Given the description of an element on the screen output the (x, y) to click on. 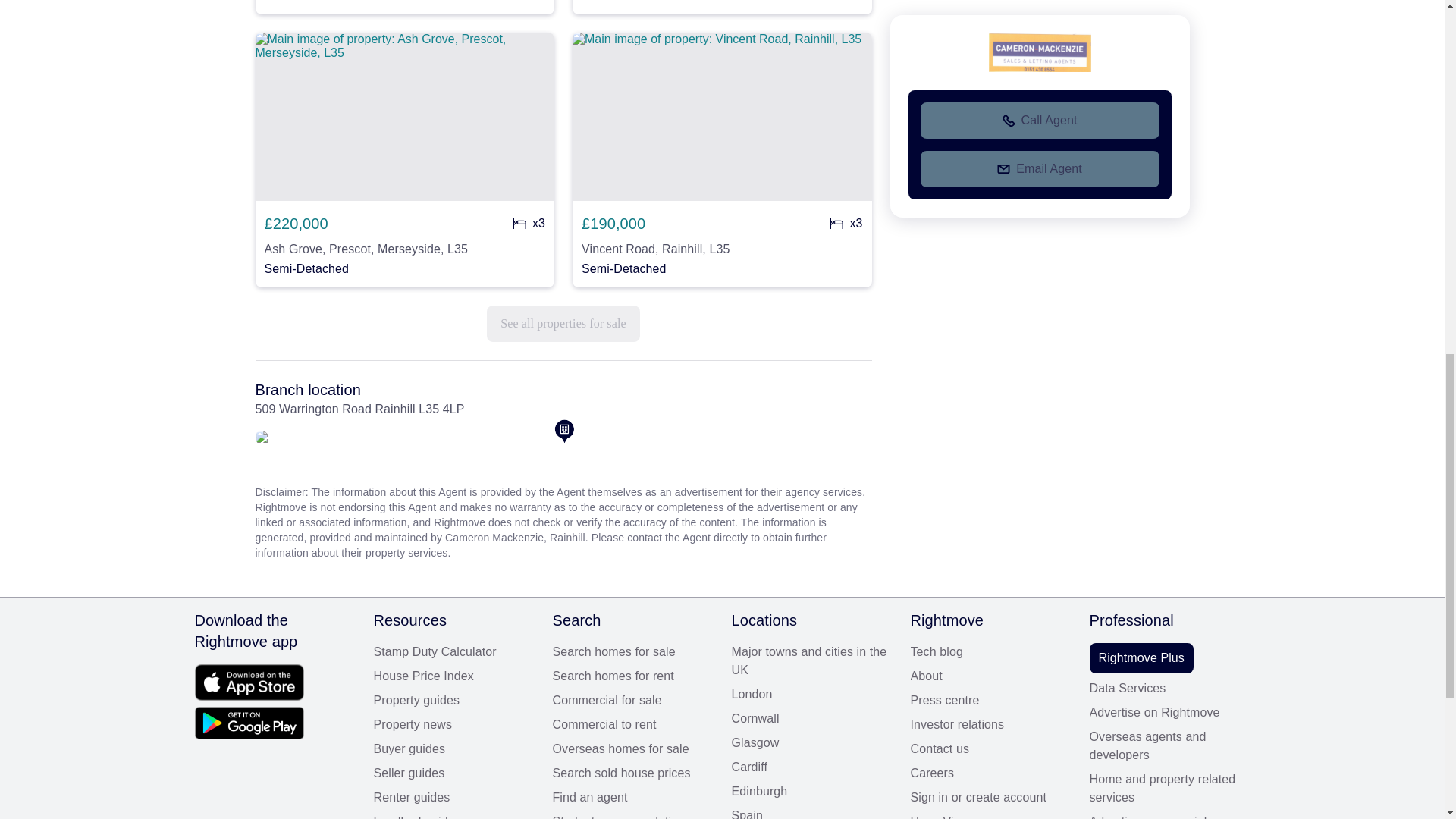
Commercial for sale (632, 700)
Buyer guides (453, 749)
Search homes for sale (632, 651)
Stamp duty calculator (453, 651)
Seller guides (453, 773)
Renter guides (453, 797)
House price index (453, 676)
Landlord guides (453, 816)
Overseas homes for sale (632, 749)
Search homes for rent (632, 676)
Property guides (453, 700)
Property news (453, 724)
Search sold house prices (632, 773)
Commercial to rent (632, 724)
